Given the description of an element on the screen output the (x, y) to click on. 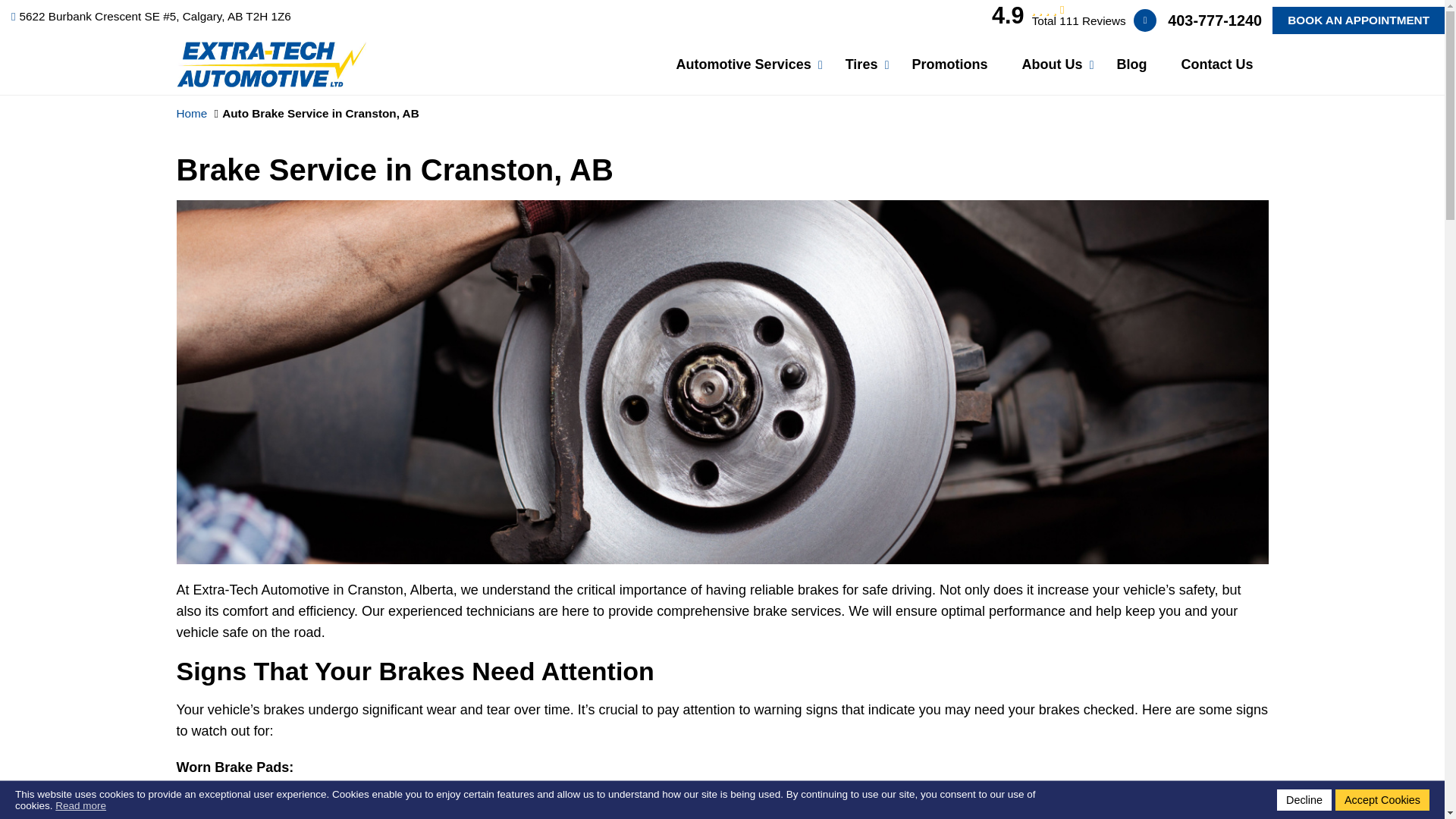
Accept Cookies (1382, 799)
403-777-1240 (1214, 20)
Extra-Tech Automotive (270, 52)
Tires (861, 64)
Read more (80, 805)
Automotive Services (744, 64)
Go to Extra-Tech Automotive. (191, 113)
Decline (1304, 799)
BOOK AN APPOINTMENT (1358, 20)
